Given the description of an element on the screen output the (x, y) to click on. 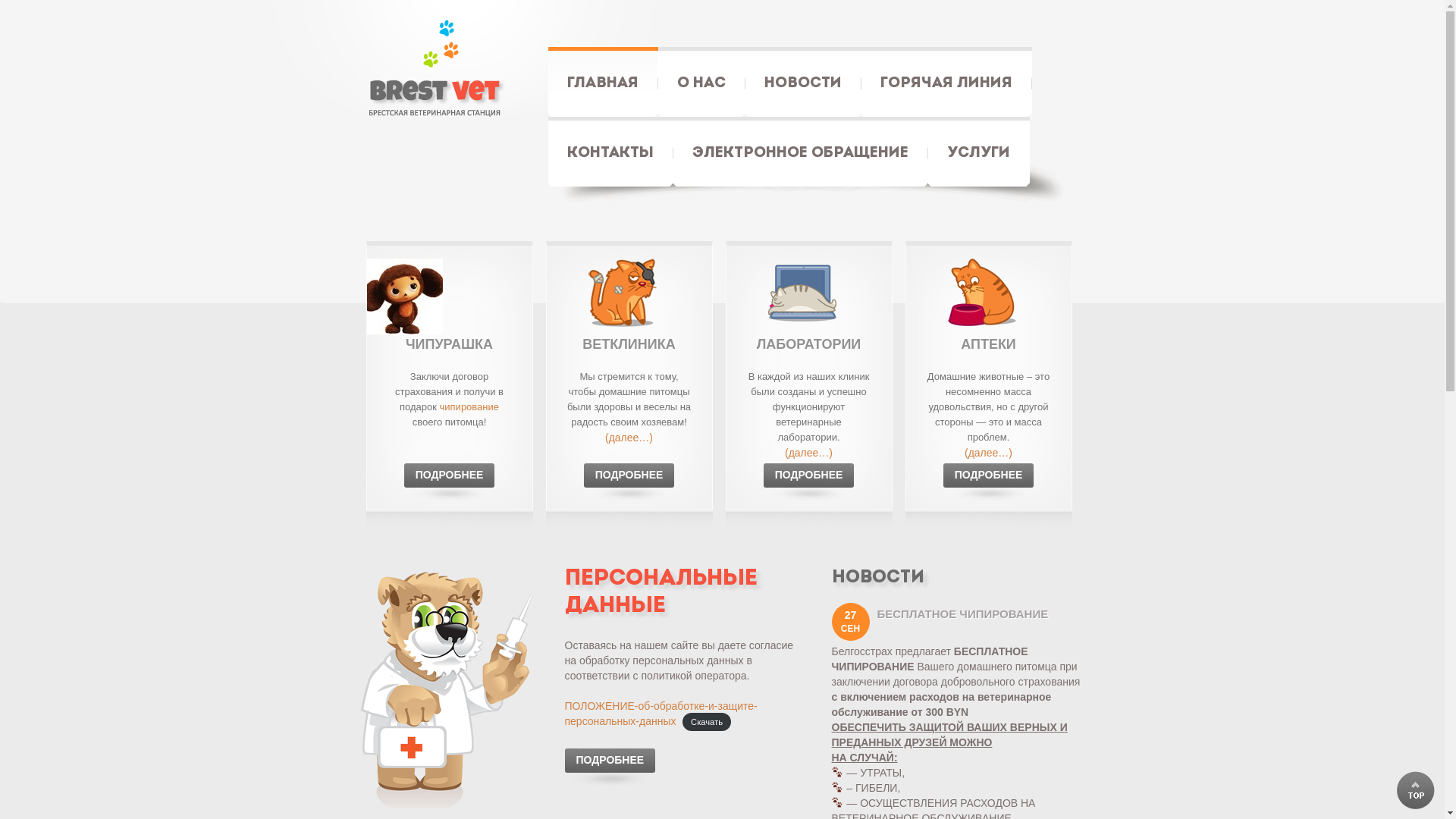
Scroll to Top Element type: text (1415, 790)
